Given the description of an element on the screen output the (x, y) to click on. 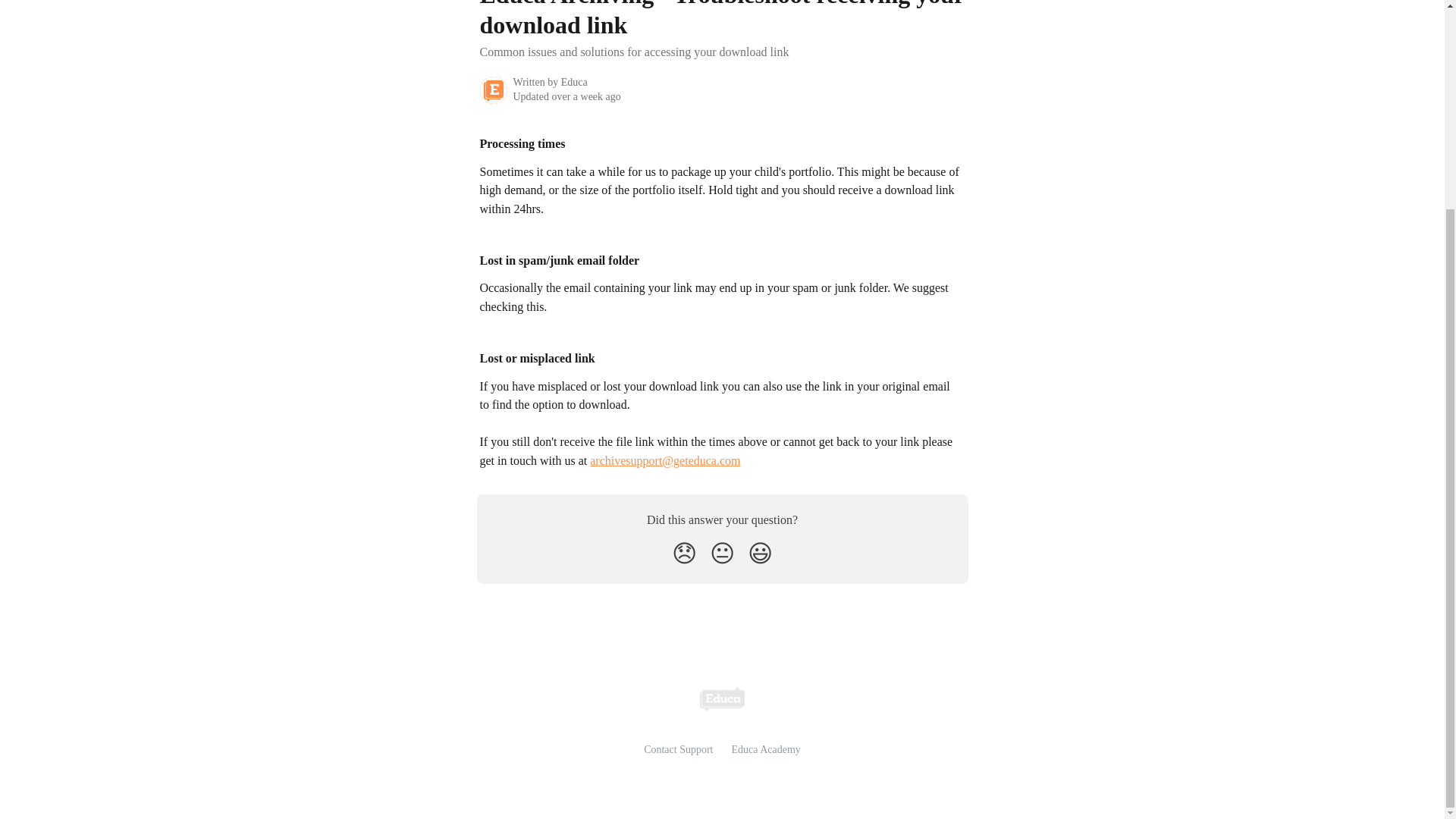
Contact Support (678, 749)
Educa Academy (766, 749)
Disappointed (684, 553)
Neutral (722, 553)
Smiley (760, 553)
